Given the description of an element on the screen output the (x, y) to click on. 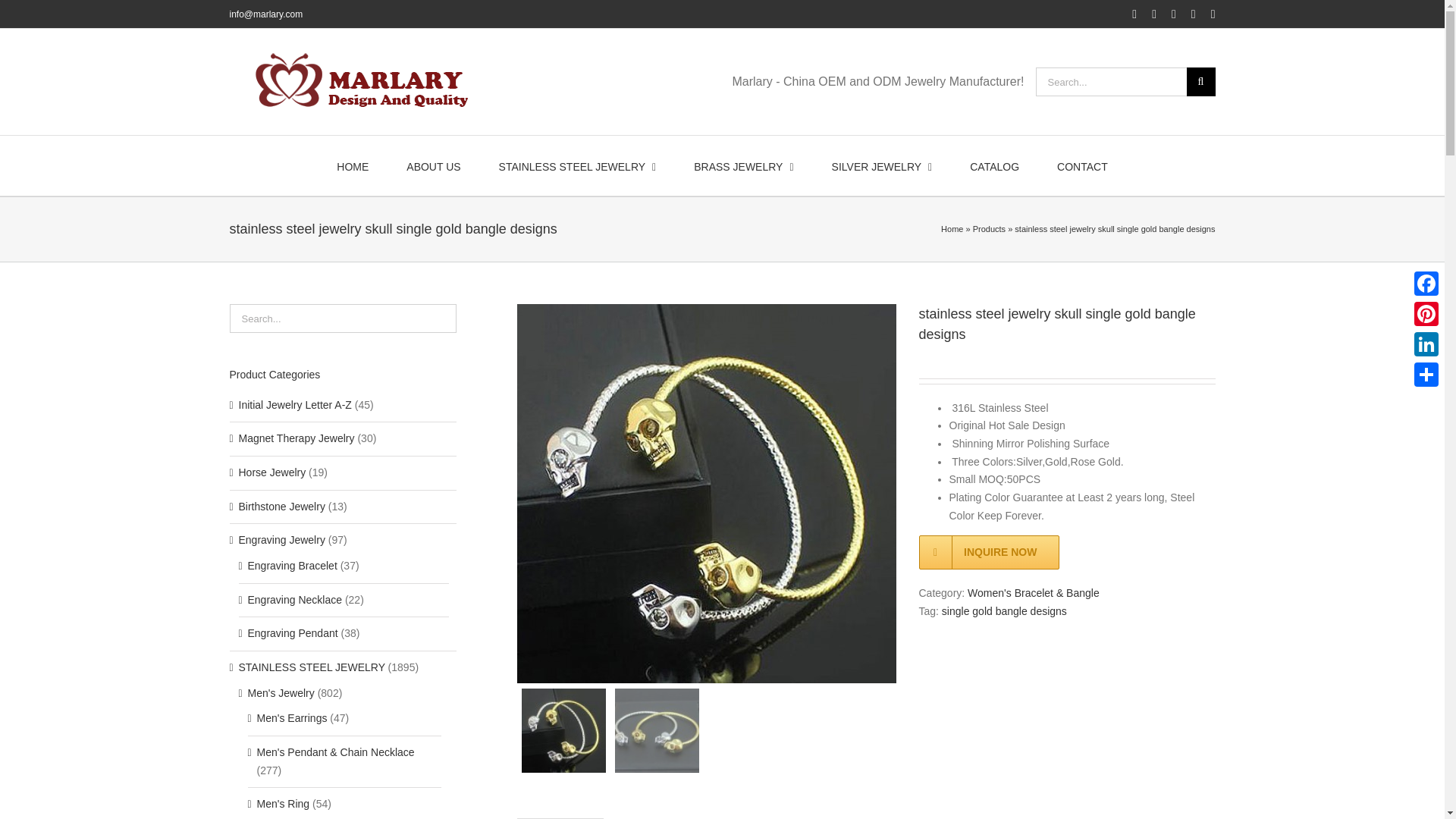
SILVER JEWELRY (882, 165)
BRASS JEWELRY (743, 165)
STAINLESS STEEL JEWELRY (577, 165)
ABOUT US (433, 165)
